Given the description of an element on the screen output the (x, y) to click on. 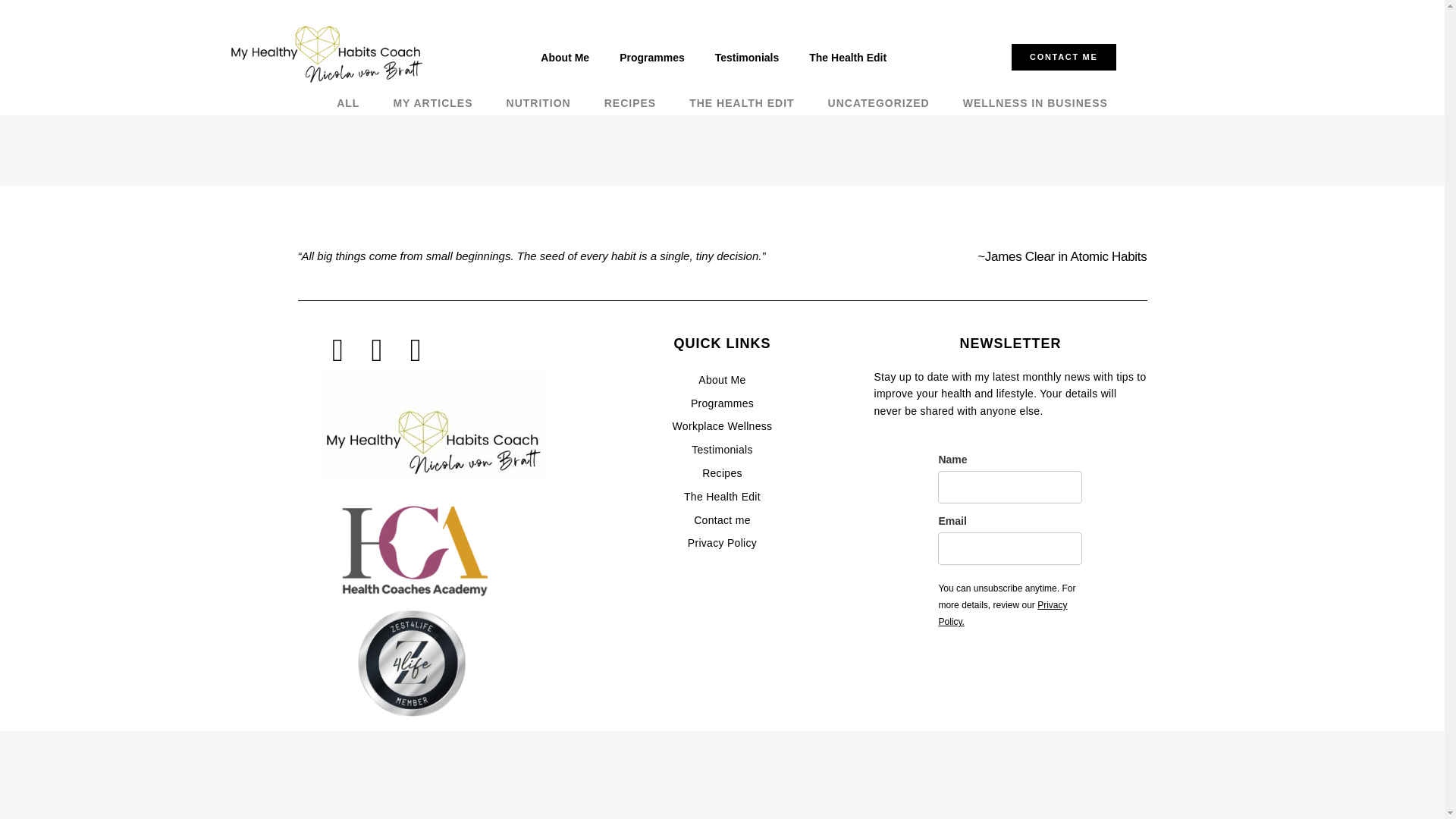
Testimonials (747, 57)
About Me (564, 57)
Programmes (722, 403)
The Health Edit (722, 496)
Programmes (652, 57)
Contact me (722, 520)
Recipes (722, 473)
Privacy Policy (722, 543)
The Health Edit (847, 57)
CONTACT ME (1063, 57)
